Given the description of an element on the screen output the (x, y) to click on. 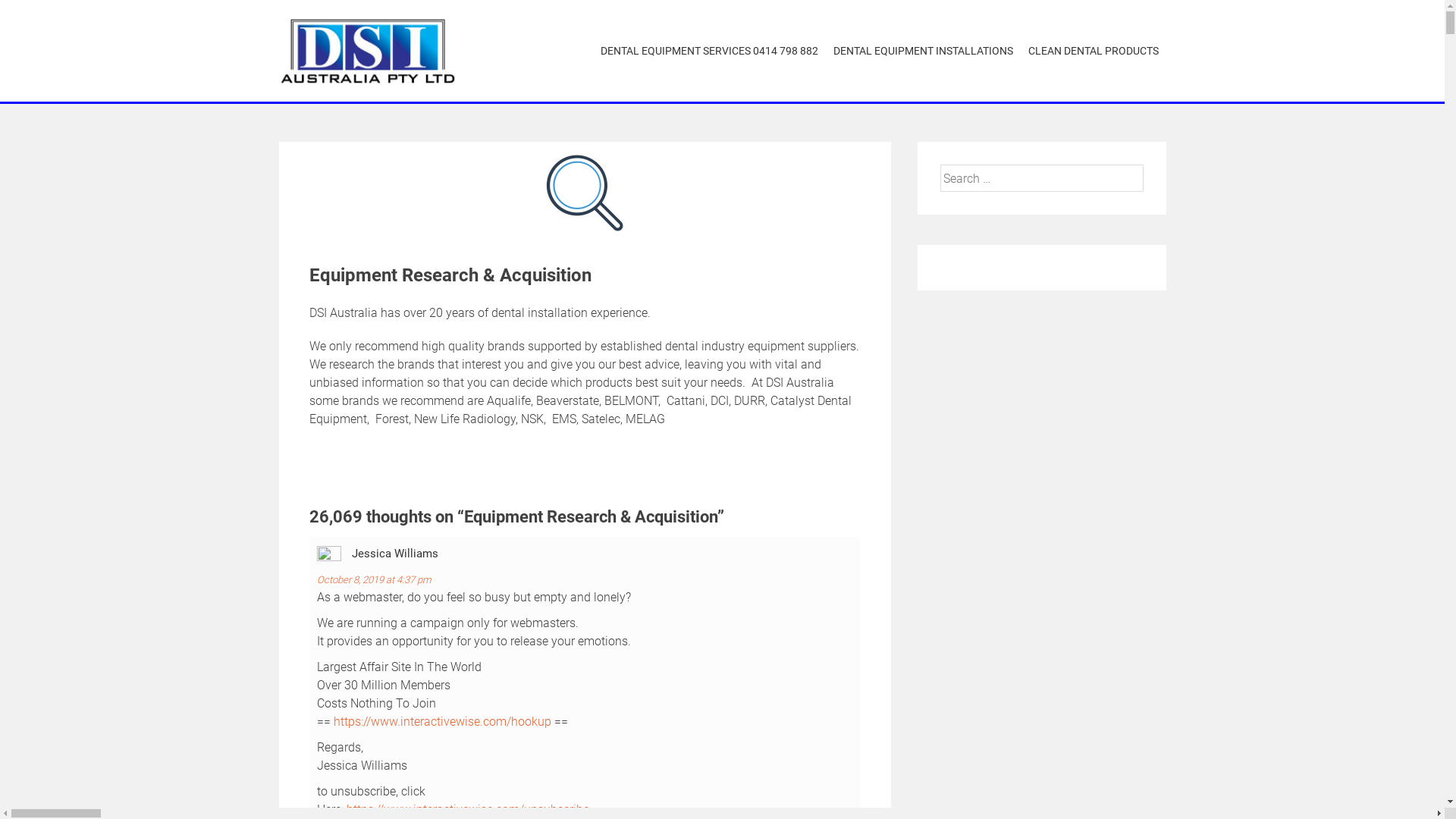
Jessica Williams Element type: text (394, 553)
https://www.interactivewise.com/unsubscribe Element type: text (466, 809)
DENTAL EQUIPMENT INSTALLATIONS Element type: text (922, 50)
October 8, 2019 at 4:37 pm Element type: text (373, 579)
Search Element type: text (33, 13)
CLEAN DENTAL PRODUCTS Element type: text (1093, 50)
DENTAL EQUIPMENT SERVICES 0414 798 882 Element type: text (709, 50)
https://www.interactivewise.com/hookup Element type: text (442, 721)
